Given the description of an element on the screen output the (x, y) to click on. 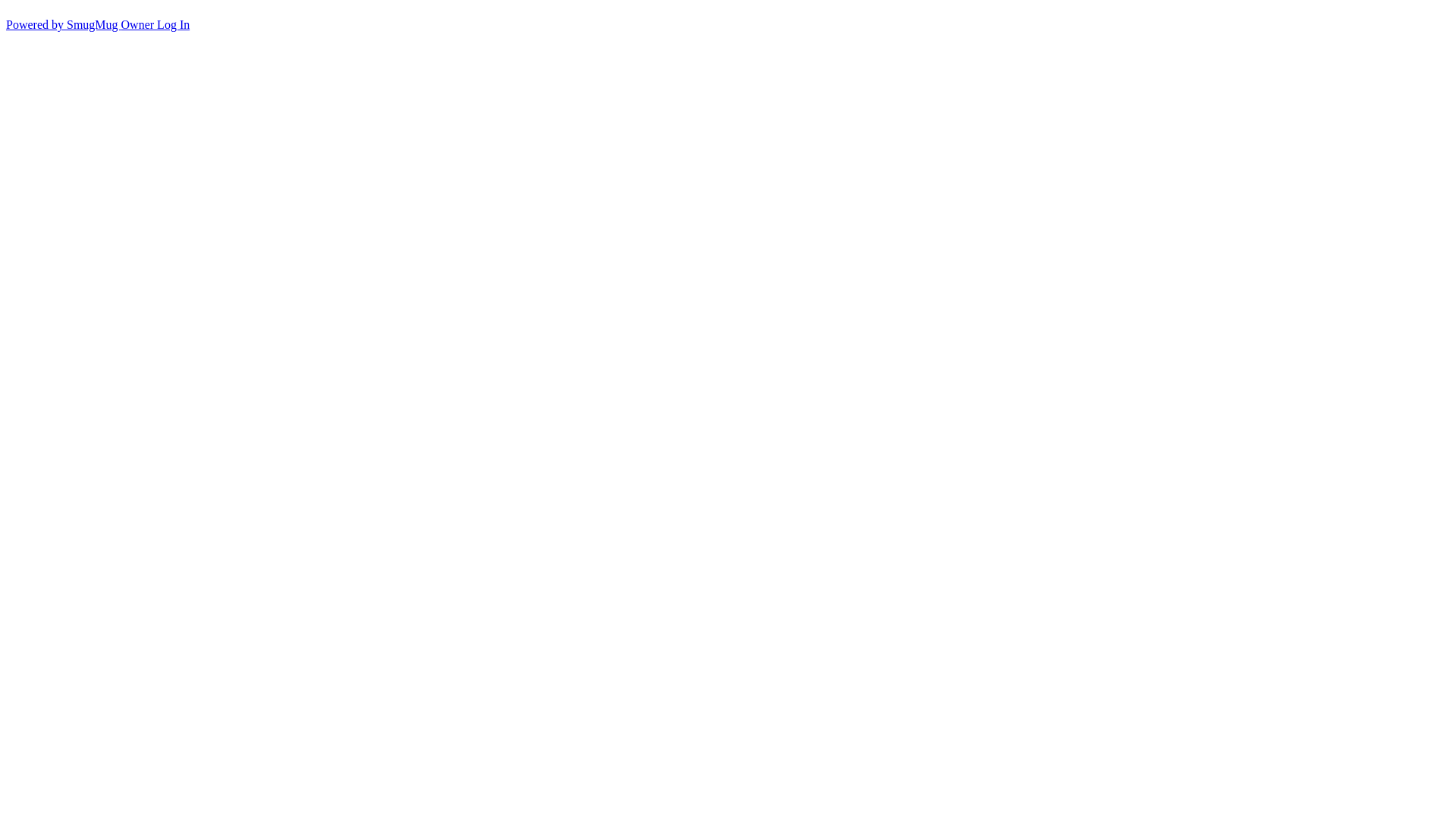
Owner Log In Element type: text (155, 24)
Powered by SmugMug Element type: text (63, 24)
